Given the description of an element on the screen output the (x, y) to click on. 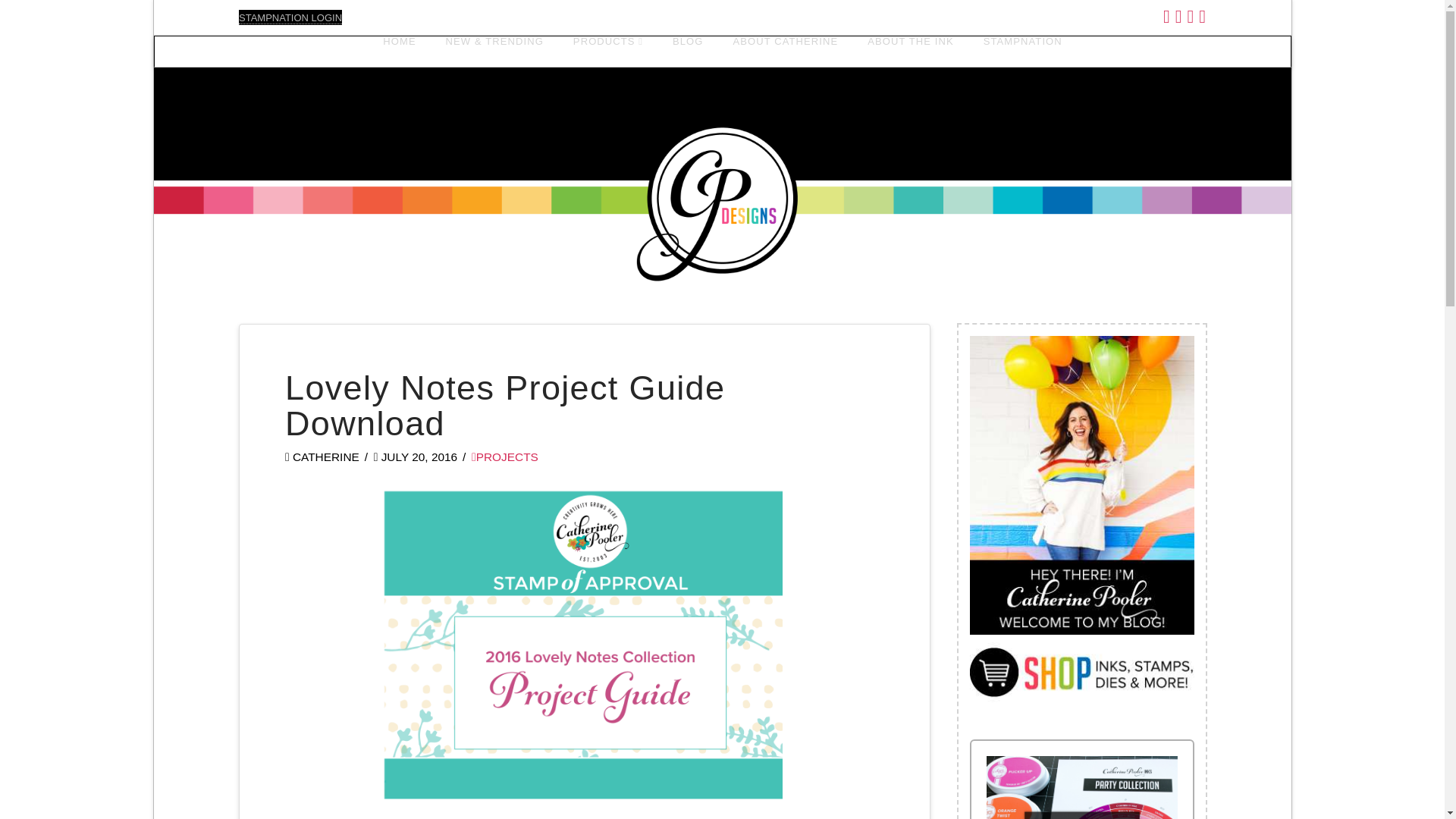
BLOG (687, 51)
ABOUT THE INK (909, 51)
STAMPNATION (1022, 51)
PRODUCTS (607, 51)
ABOUT CATHERINE (784, 51)
New and Trending  (493, 51)
Products (607, 51)
HOME (398, 51)
Home (398, 51)
Blog (687, 51)
PROJECTS (504, 456)
